Given the description of an element on the screen output the (x, y) to click on. 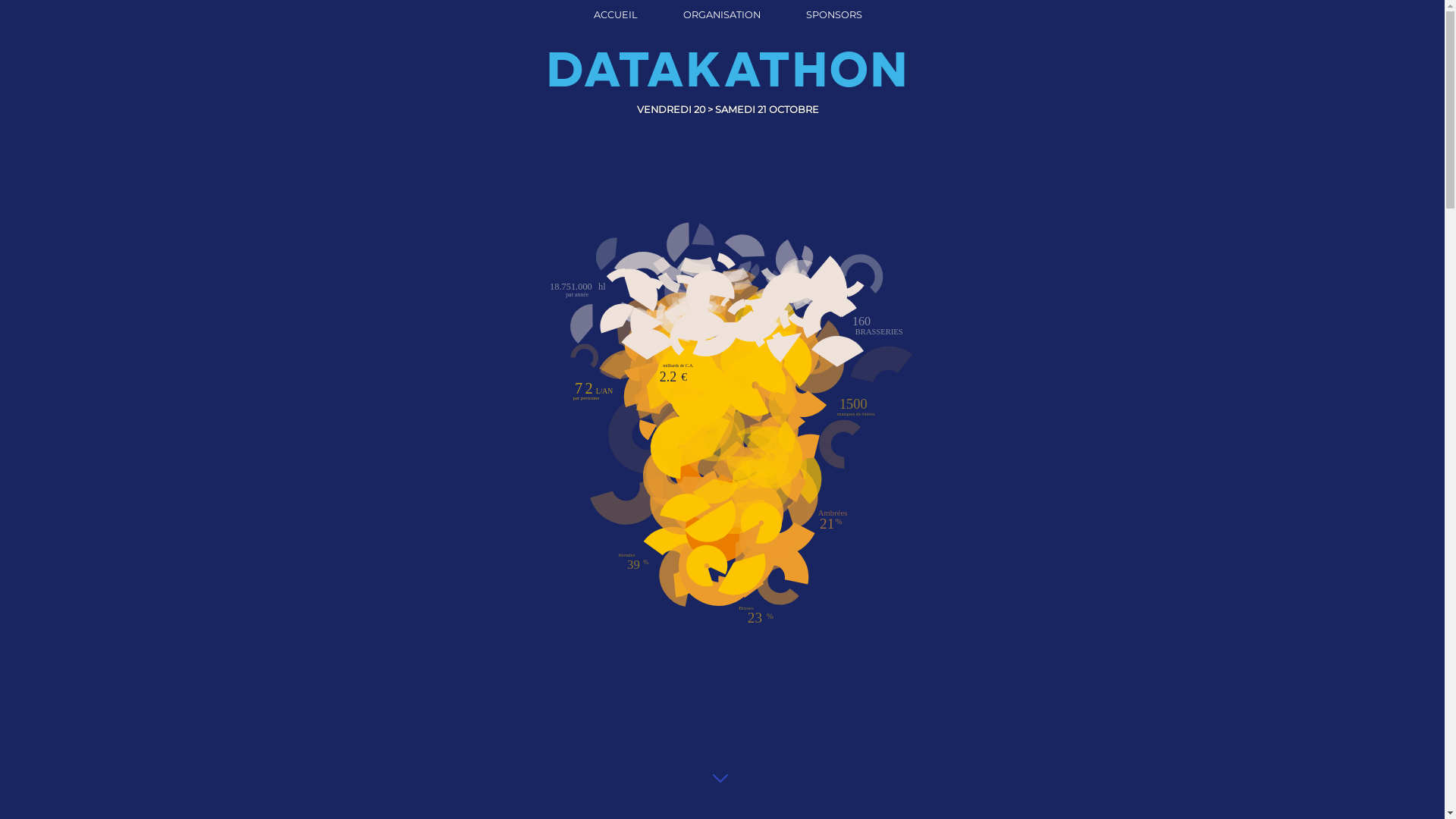
Aller au contenu principal Element type: text (720, 780)
ORGANISATION Element type: text (721, 14)
DATAKATHON Element type: text (727, 65)
ACCUEIL Element type: text (615, 14)
SPONSORS Element type: text (834, 14)
